Given the description of an element on the screen output the (x, y) to click on. 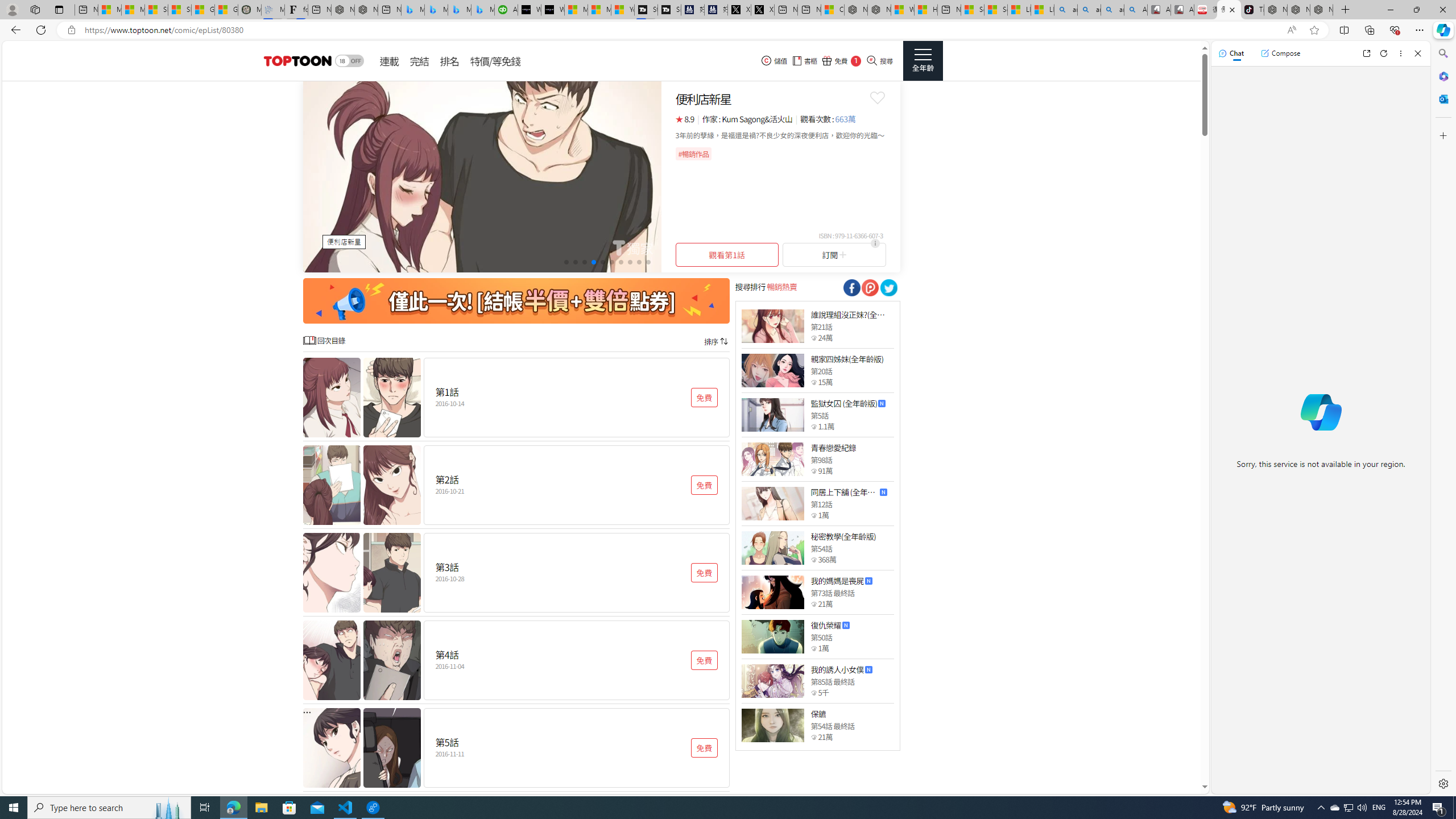
All Cubot phones (1182, 9)
Go to slide 10 (647, 261)
Go to slide 1 (566, 261)
Streaming Coverage | T3 (645, 9)
Go to slide 6 (611, 261)
Microsoft Bing Travel - Stays in Bangkok, Bangkok, Thailand (435, 9)
Microsoft Start Sports (575, 9)
Microsoft 365 (1442, 76)
